Given the description of an element on the screen output the (x, y) to click on. 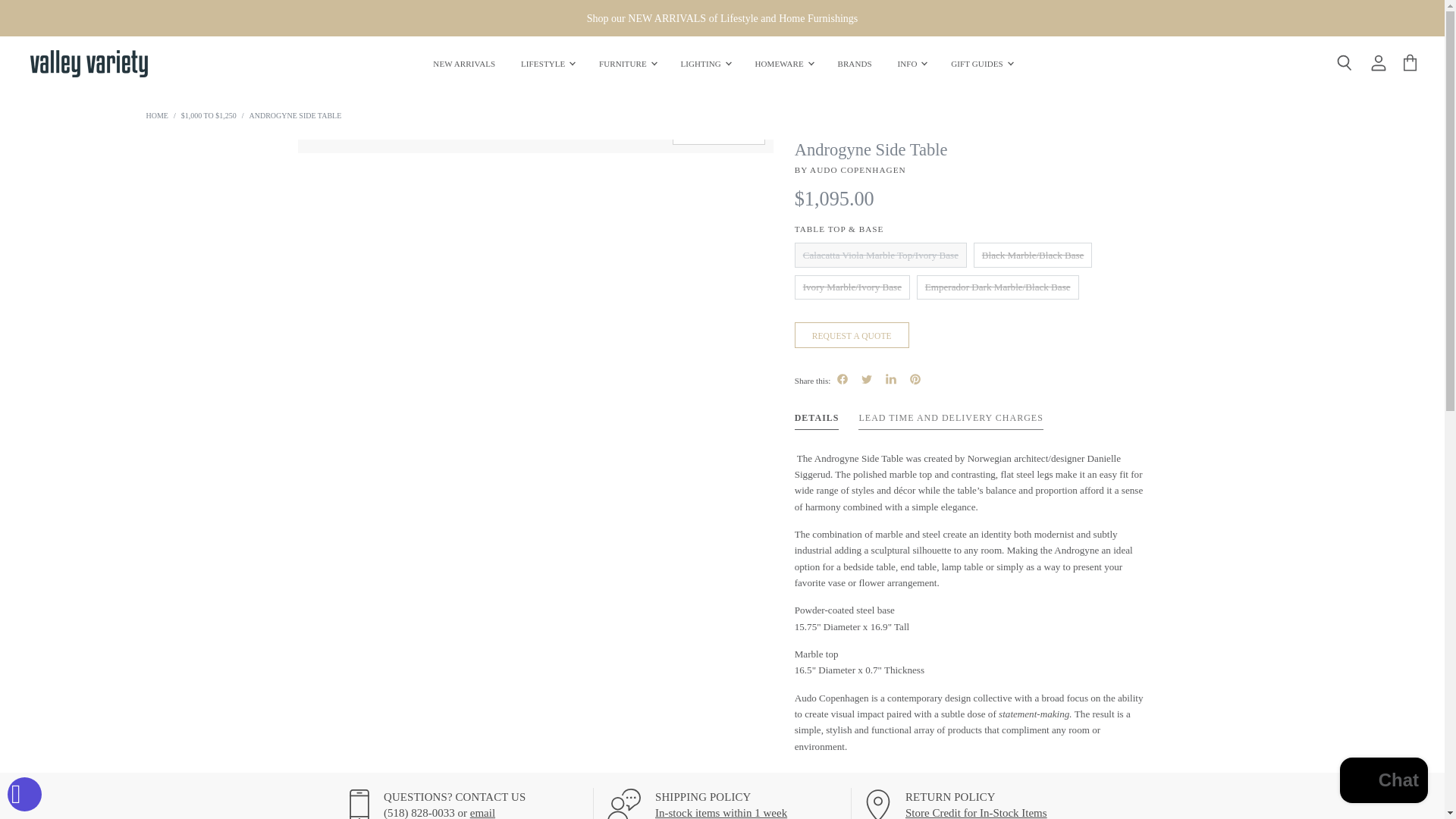
NEW ARRIVALS (464, 63)
Shipping Policy (721, 812)
LIGHTING (703, 63)
FURNITURE (627, 63)
Audo Copenhagen (857, 169)
Shopify online store chat (1383, 781)
Visit the Store (482, 812)
Refund Policy (975, 812)
LIFESTYLE (547, 63)
Chat icon (623, 803)
